Given the description of an element on the screen output the (x, y) to click on. 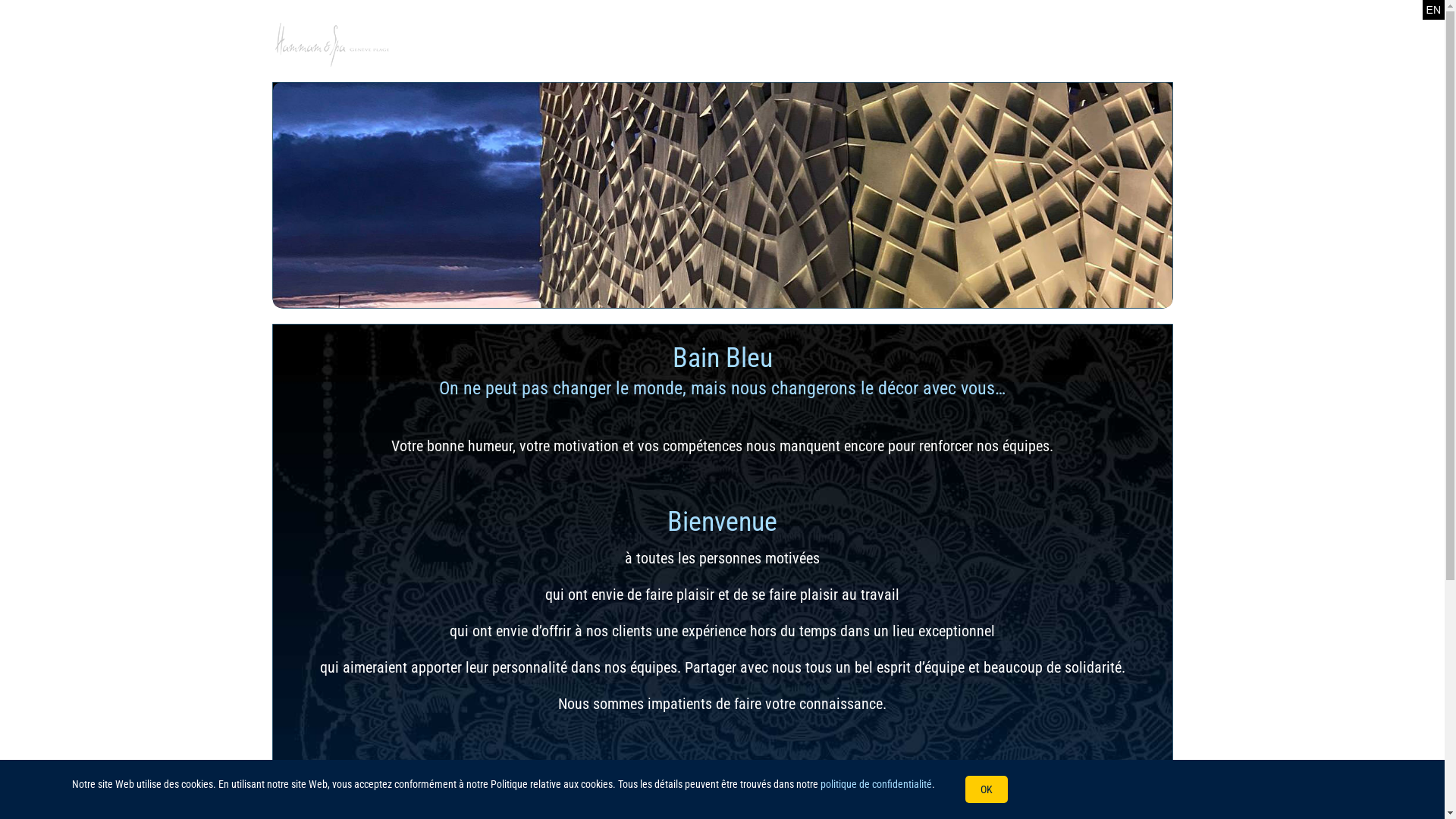
OK Element type: text (986, 789)
EN Element type: text (1433, 9)
EN Element type: text (1433, 9)
Bain-Bleu Element type: hover (722, 194)
